Given the description of an element on the screen output the (x, y) to click on. 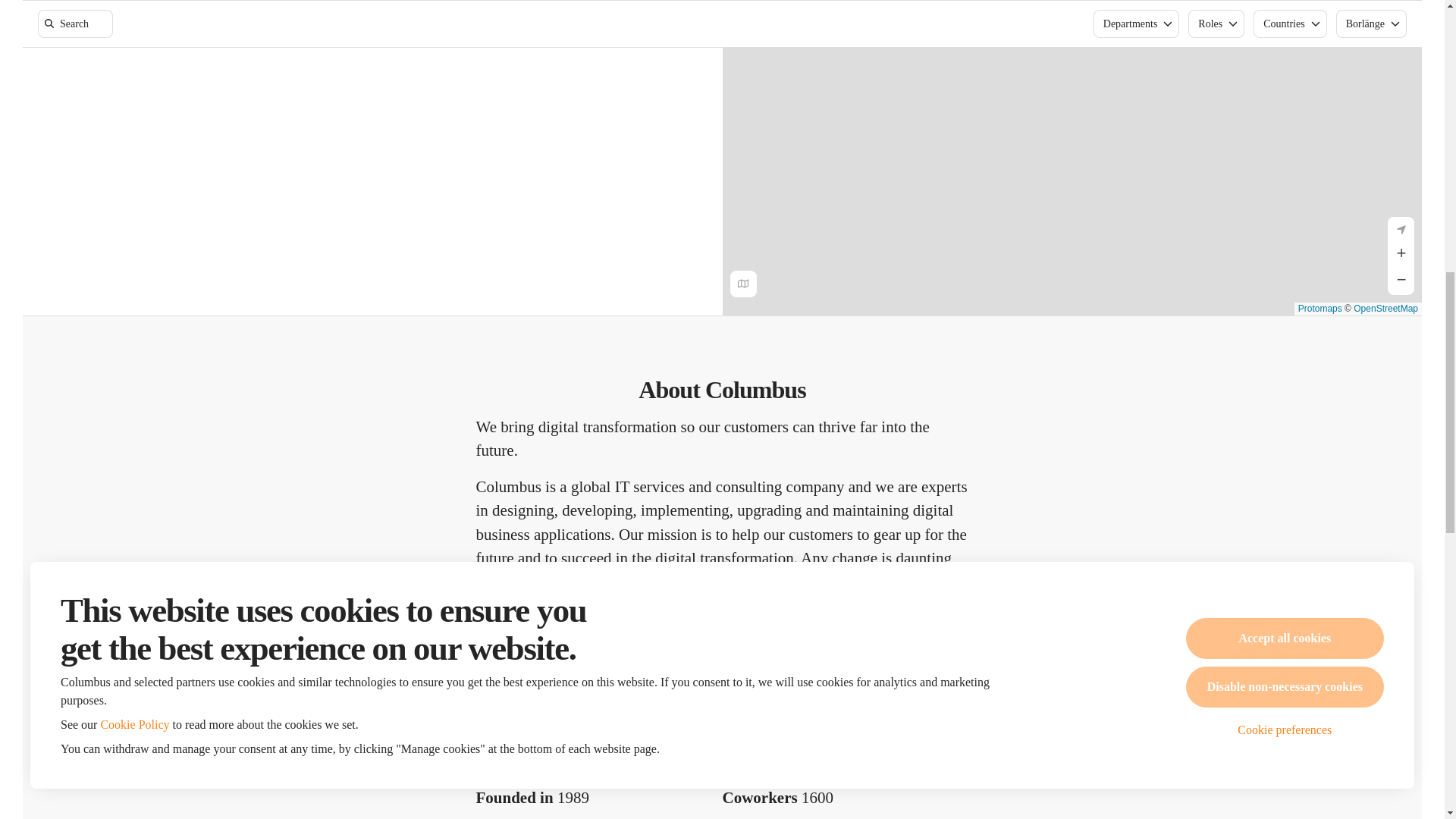
Zoom out (1400, 281)
Zoom in (1400, 254)
